Given the description of an element on the screen output the (x, y) to click on. 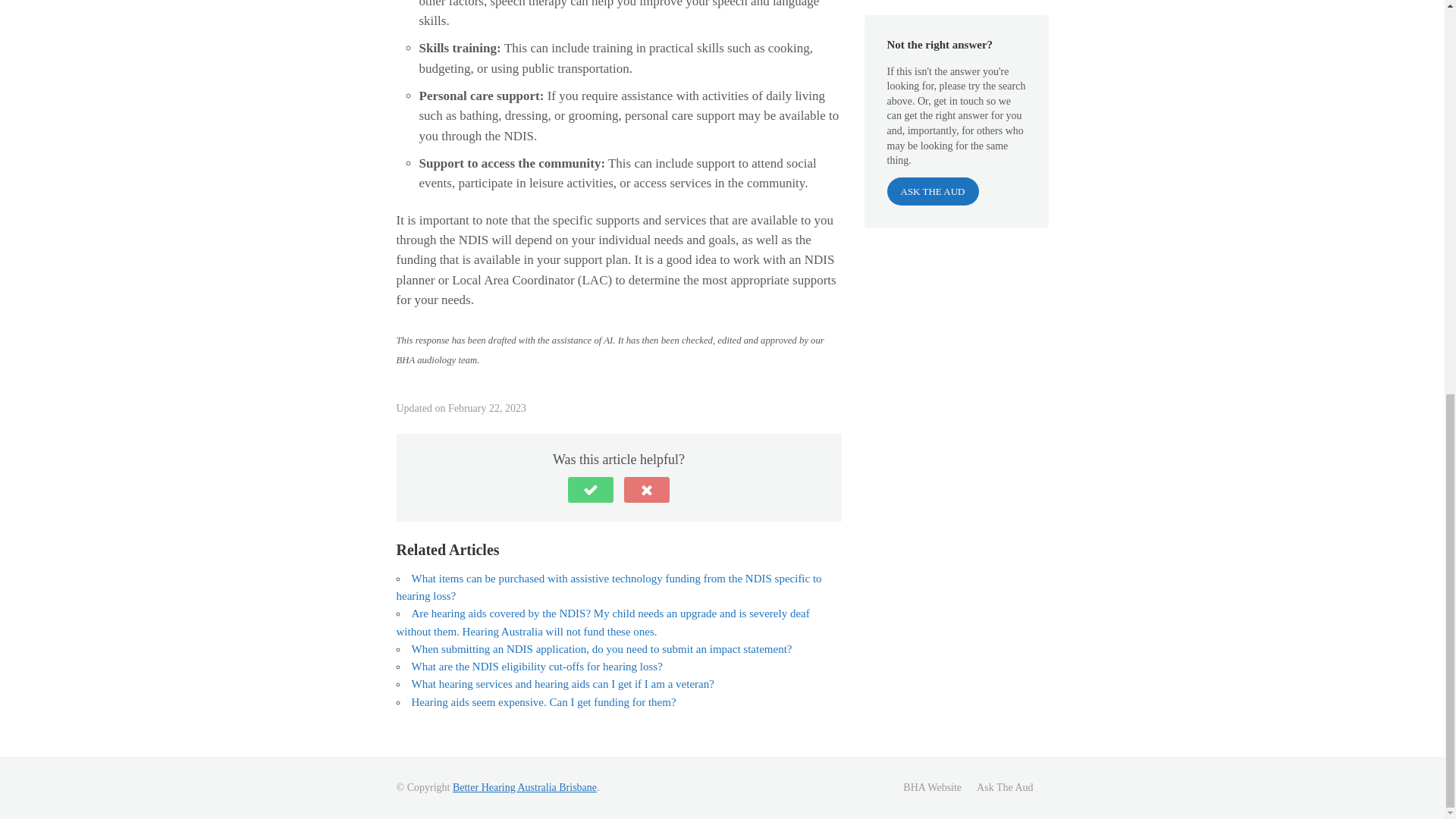
Hearing aids seem expensive. Can I get funding for them? (542, 702)
BHA Website (931, 787)
What are the NDIS eligibility cut-offs for hearing loss? (536, 666)
Ask The Aud (1004, 787)
Better Hearing Australia Brisbane (524, 787)
